Given the description of an element on the screen output the (x, y) to click on. 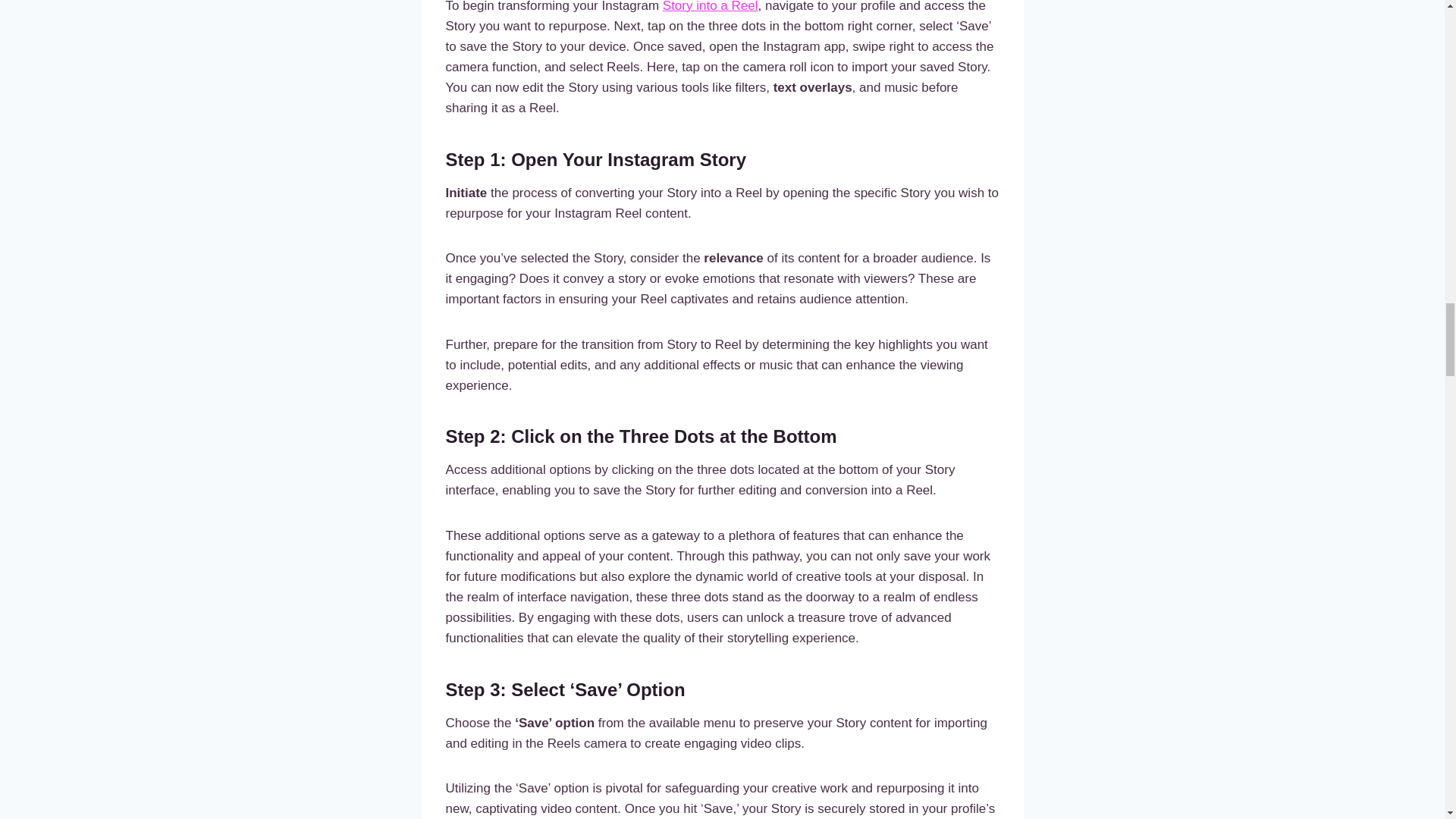
Story into a Reel (710, 6)
